Given the description of an element on the screen output the (x, y) to click on. 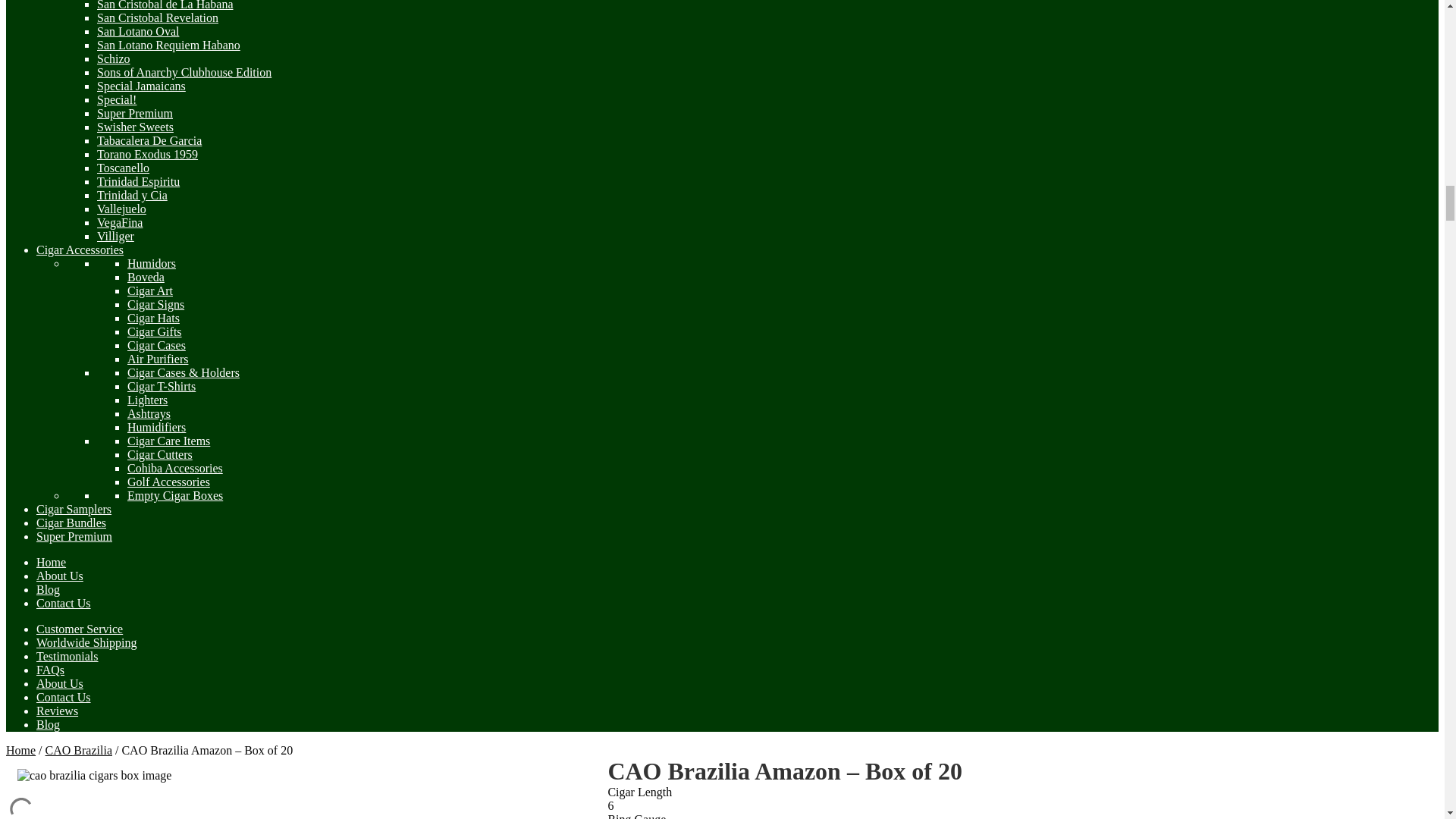
cao-brazilia-cigars-box-use-approved (94, 775)
